Given the description of an element on the screen output the (x, y) to click on. 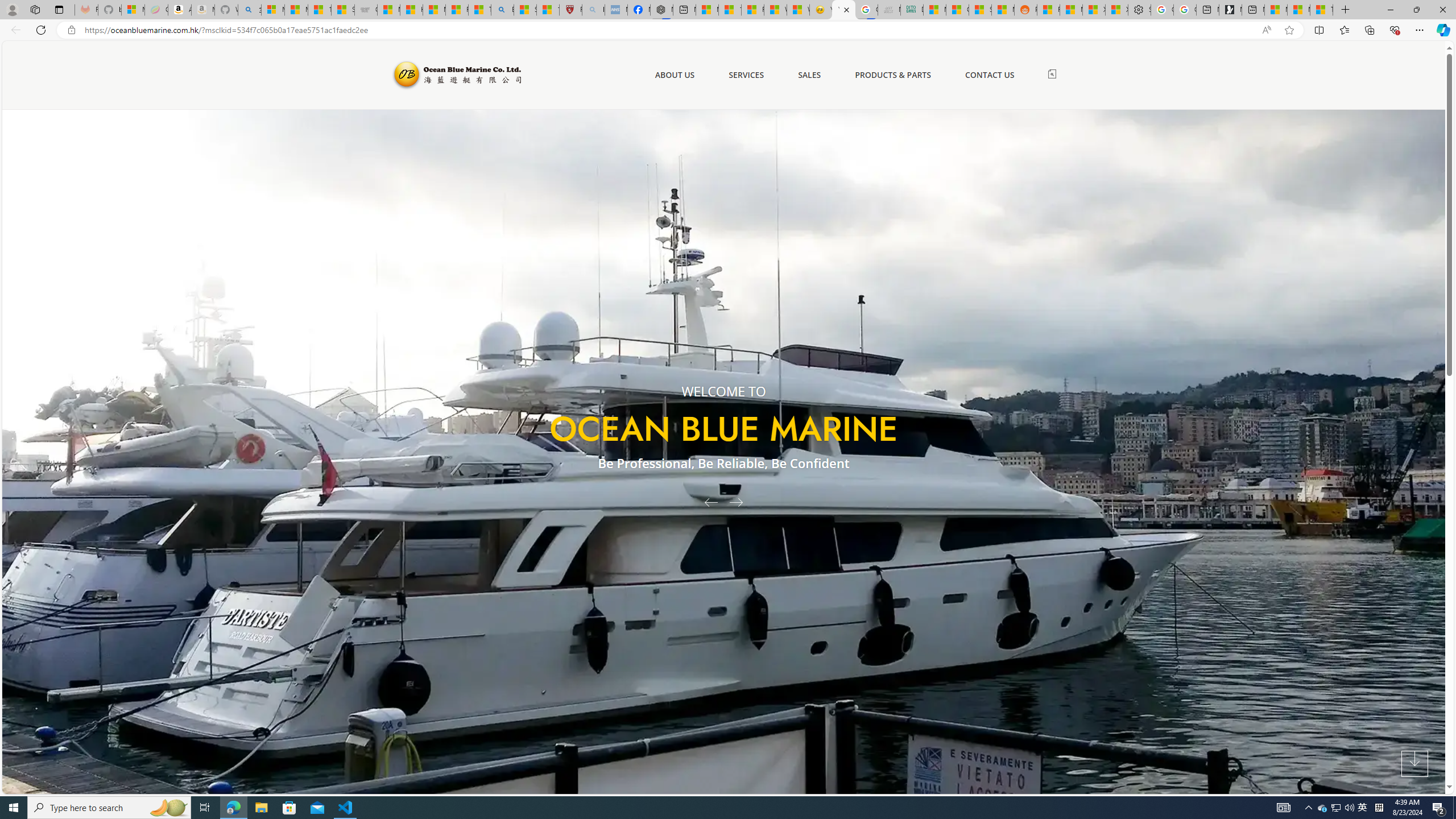
SALES (809, 74)
Next Section (1414, 764)
R******* | Trusted Community Engagement and Contributions (1048, 9)
SALES (809, 75)
